Given the description of an element on the screen output the (x, y) to click on. 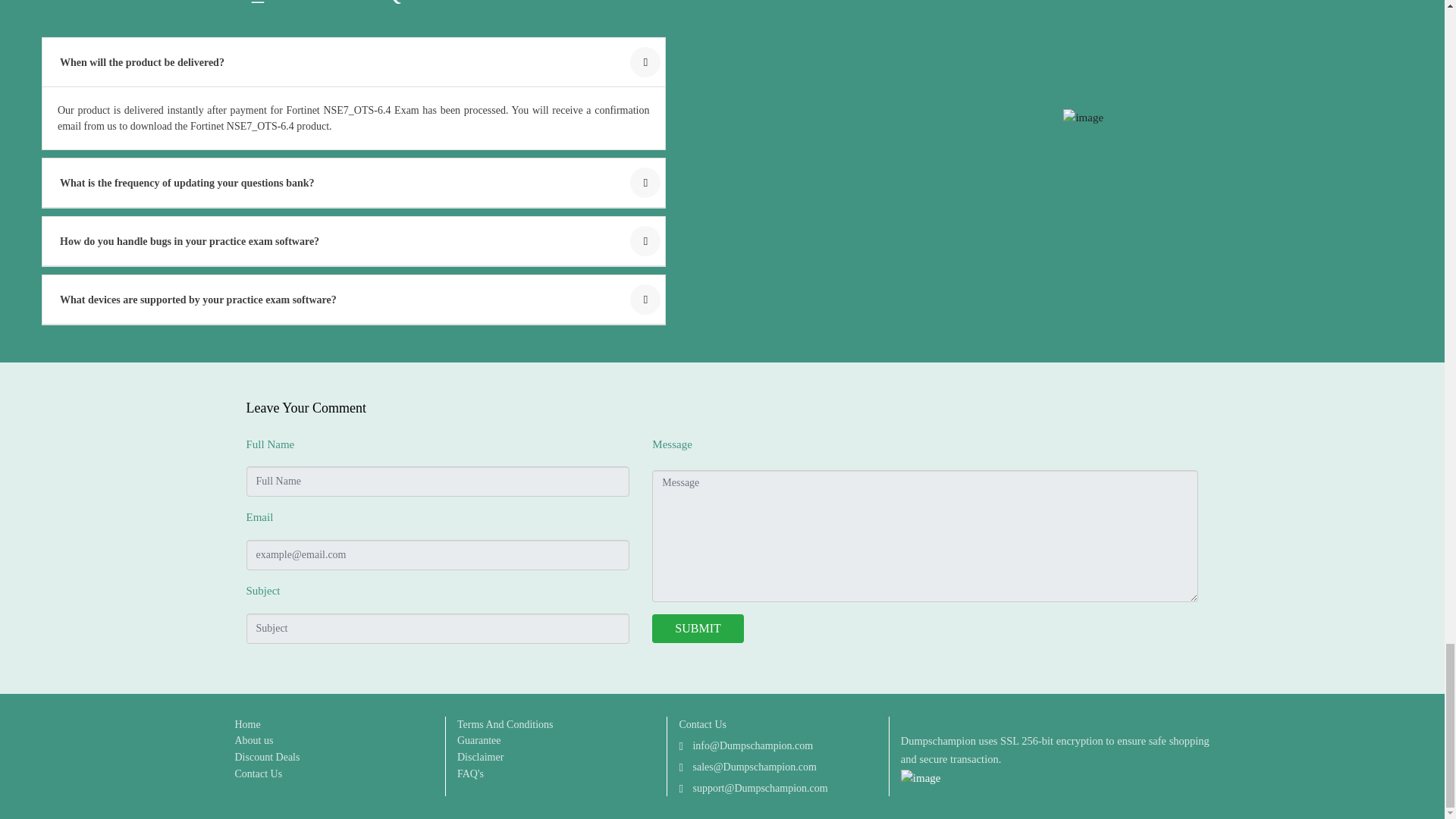
About us (253, 740)
Contact Us (258, 773)
Guarantee (478, 740)
Discount Deals (266, 756)
Disclaimer (480, 756)
Home (247, 724)
SUBMIT (697, 628)
Terms And Conditions (505, 724)
